Given the description of an element on the screen output the (x, y) to click on. 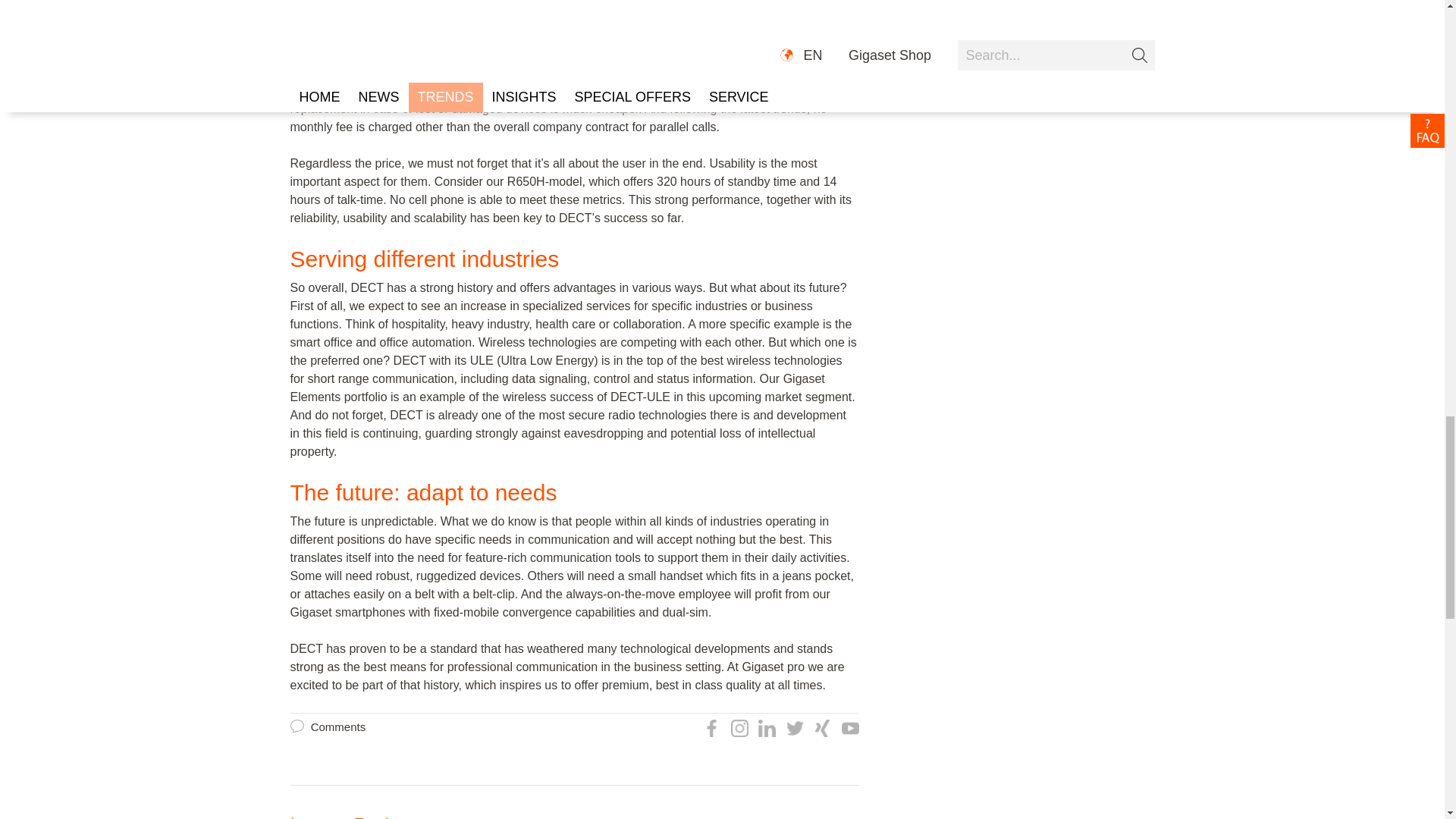
Share on Twitter (794, 728)
Share on Linked (767, 728)
Youtube (846, 727)
Share on Linked (764, 727)
Instagram (737, 727)
Instagram (739, 728)
Share on Facebook (709, 727)
Share on Xing (820, 727)
Share on Facebook (711, 728)
Share on Twitter (792, 727)
Youtube (850, 728)
Share on Xing (822, 728)
